Given the description of an element on the screen output the (x, y) to click on. 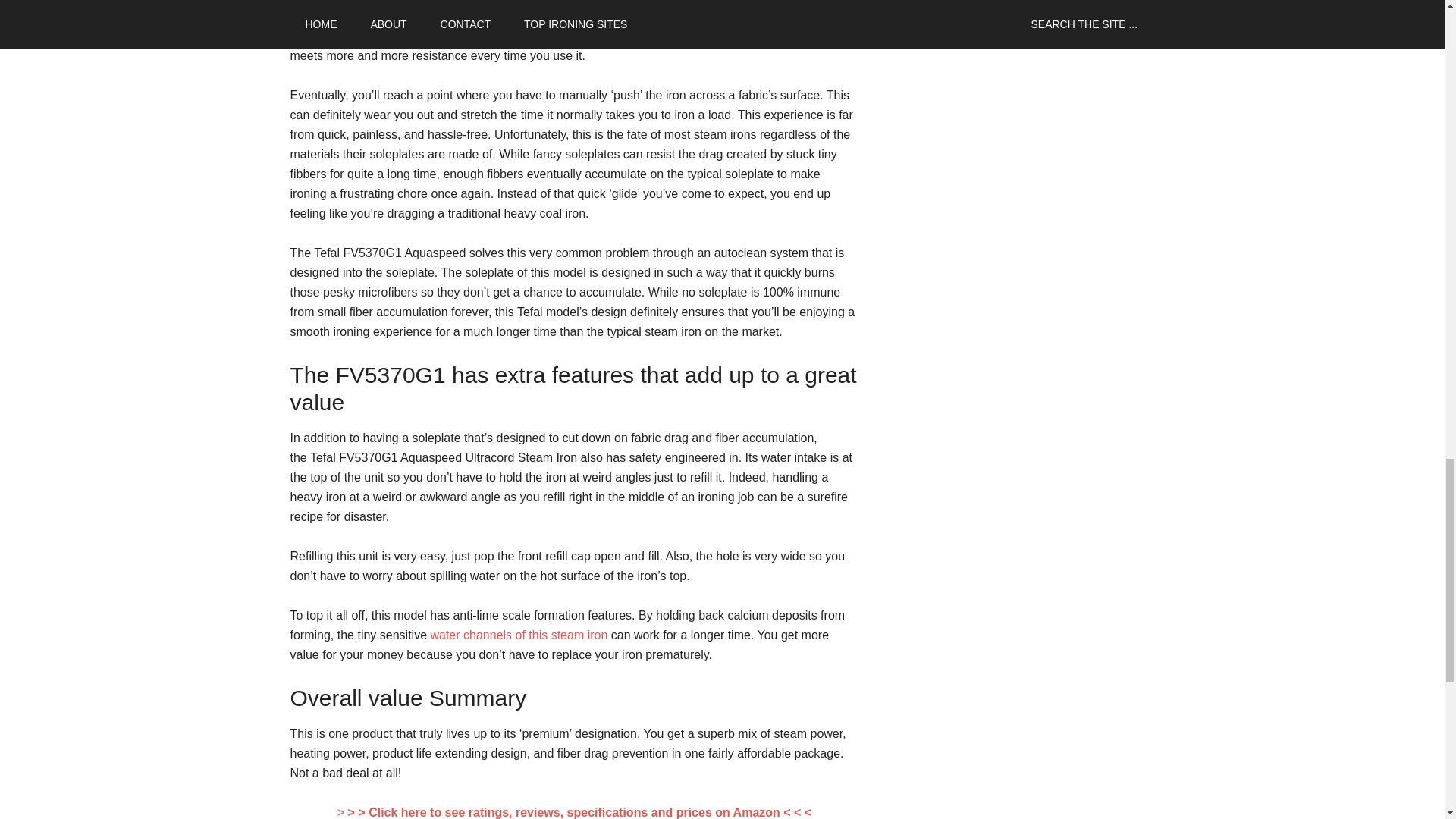
water channels of this steam iron (518, 634)
